Given the description of an element on the screen output the (x, y) to click on. 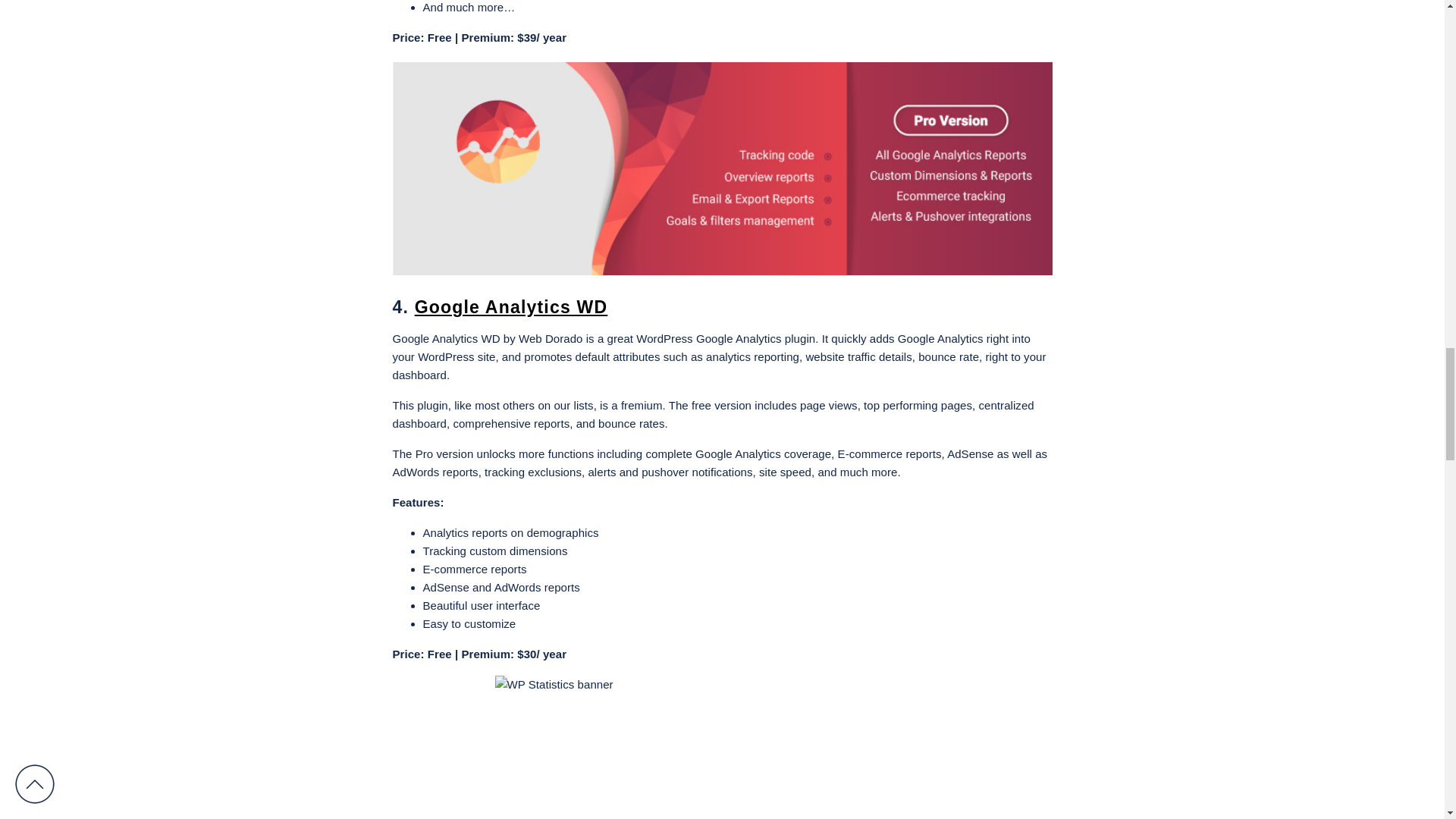
Google Analytics WD (511, 306)
